Given the description of an element on the screen output the (x, y) to click on. 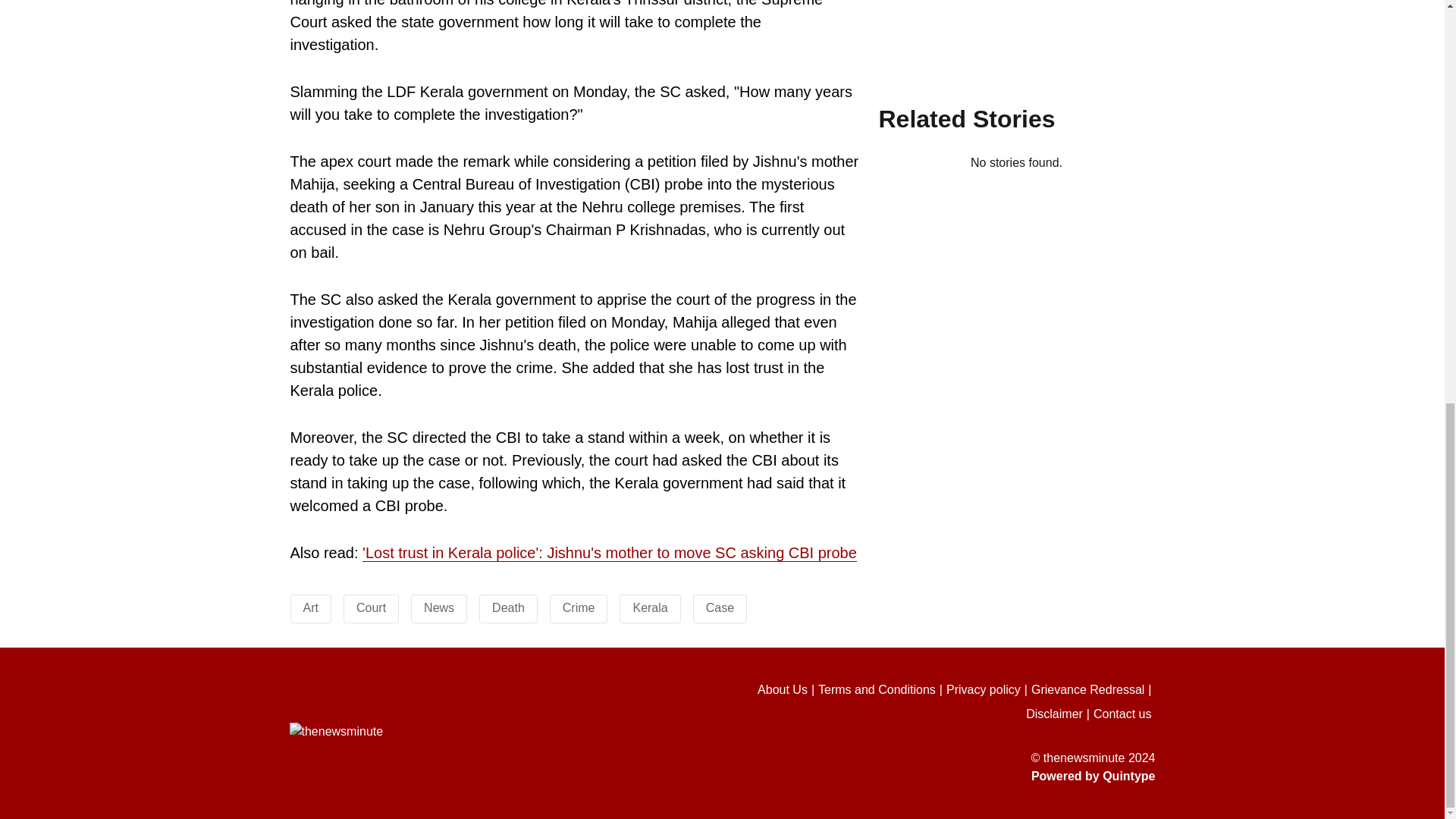
News (438, 607)
Case (719, 607)
Court (370, 607)
Kerala (648, 607)
Art (310, 607)
Crime (578, 607)
Death (508, 607)
